Given the description of an element on the screen output the (x, y) to click on. 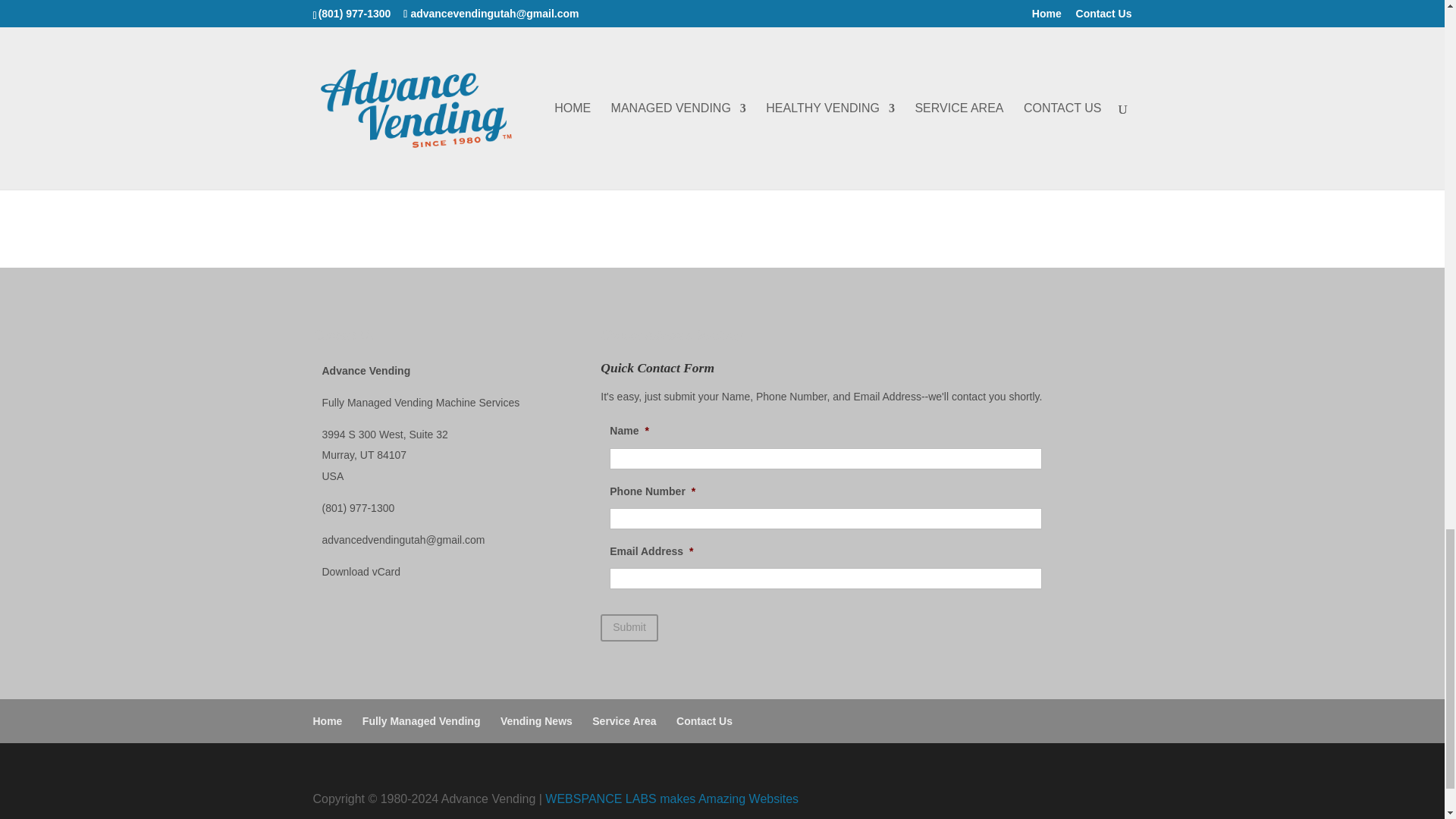
Submit (628, 627)
logged in (407, 174)
Brupac adopts disposable in-cup packaging (496, 21)
Noodle Kiosk launches in Elephant and Castle (617, 21)
